Given the description of an element on the screen output the (x, y) to click on. 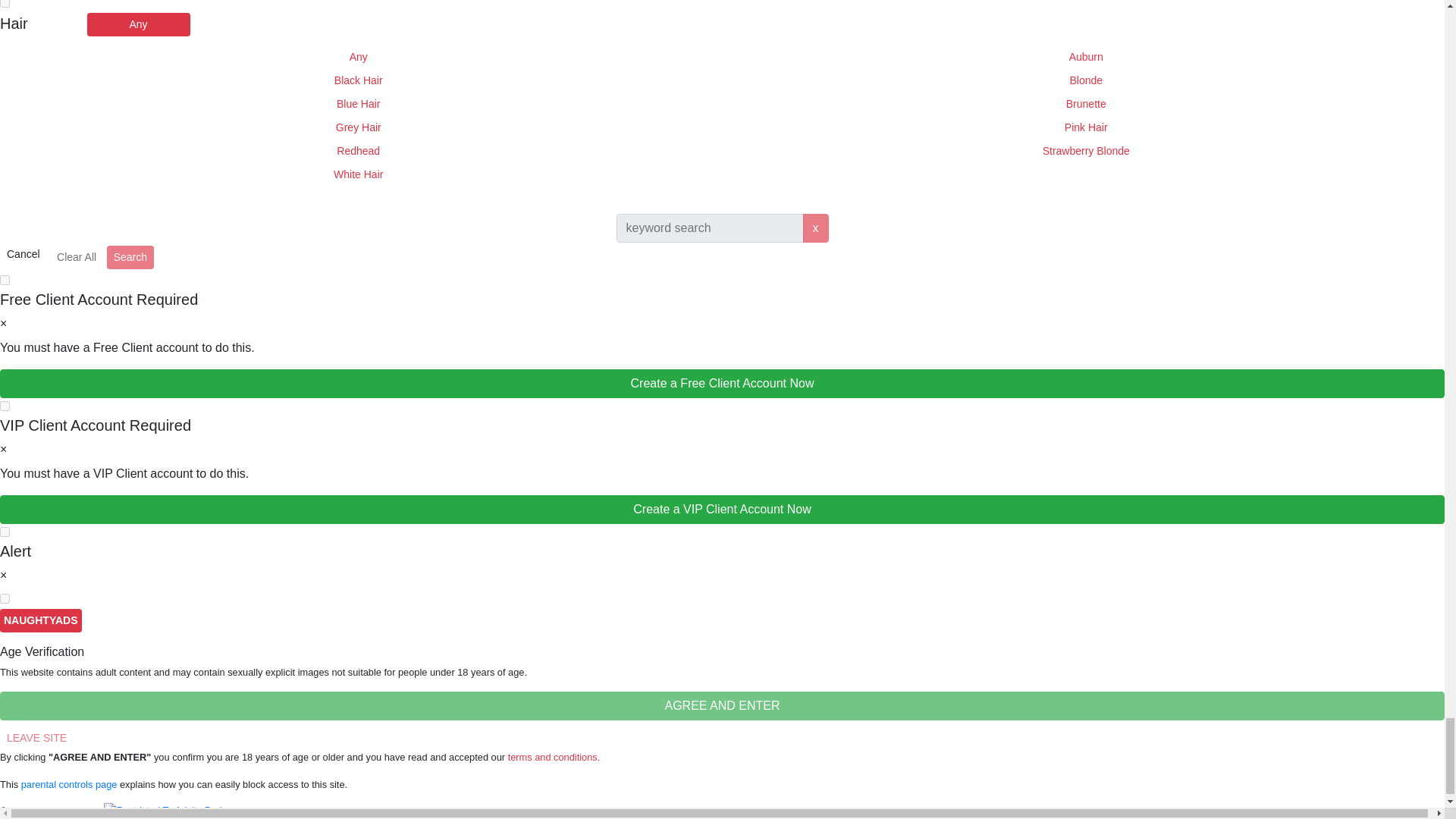
on (5, 3)
Naughty Ads - Escorts Directory (40, 620)
